Given the description of an element on the screen output the (x, y) to click on. 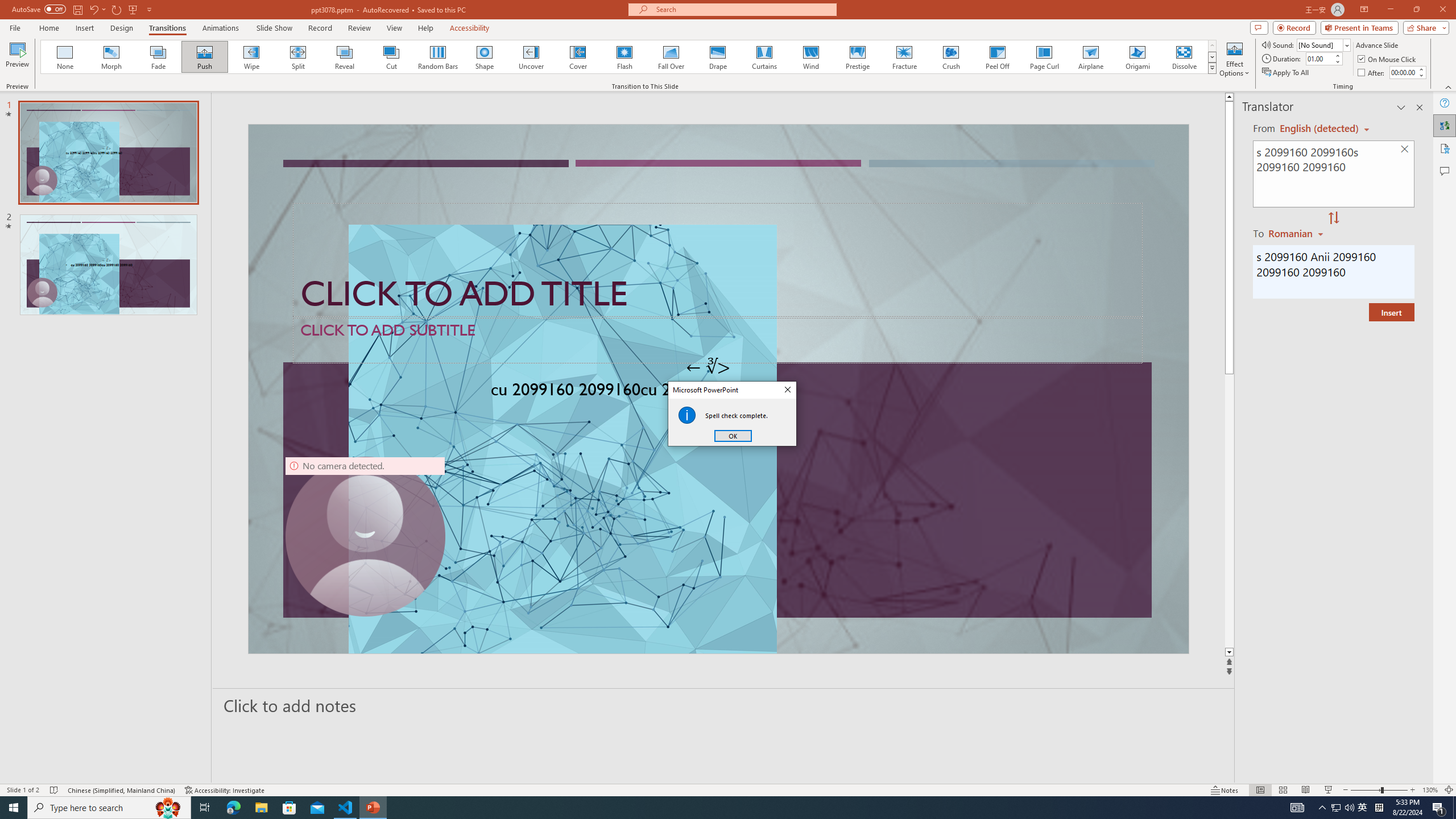
Zoom 130% (1430, 790)
Swap "from" and "to" languages. (1333, 218)
Running applications (707, 807)
OK (732, 435)
Morph (111, 56)
Split (298, 56)
None (65, 56)
Apply To All (1286, 72)
Drape (717, 56)
